Given the description of an element on the screen output the (x, y) to click on. 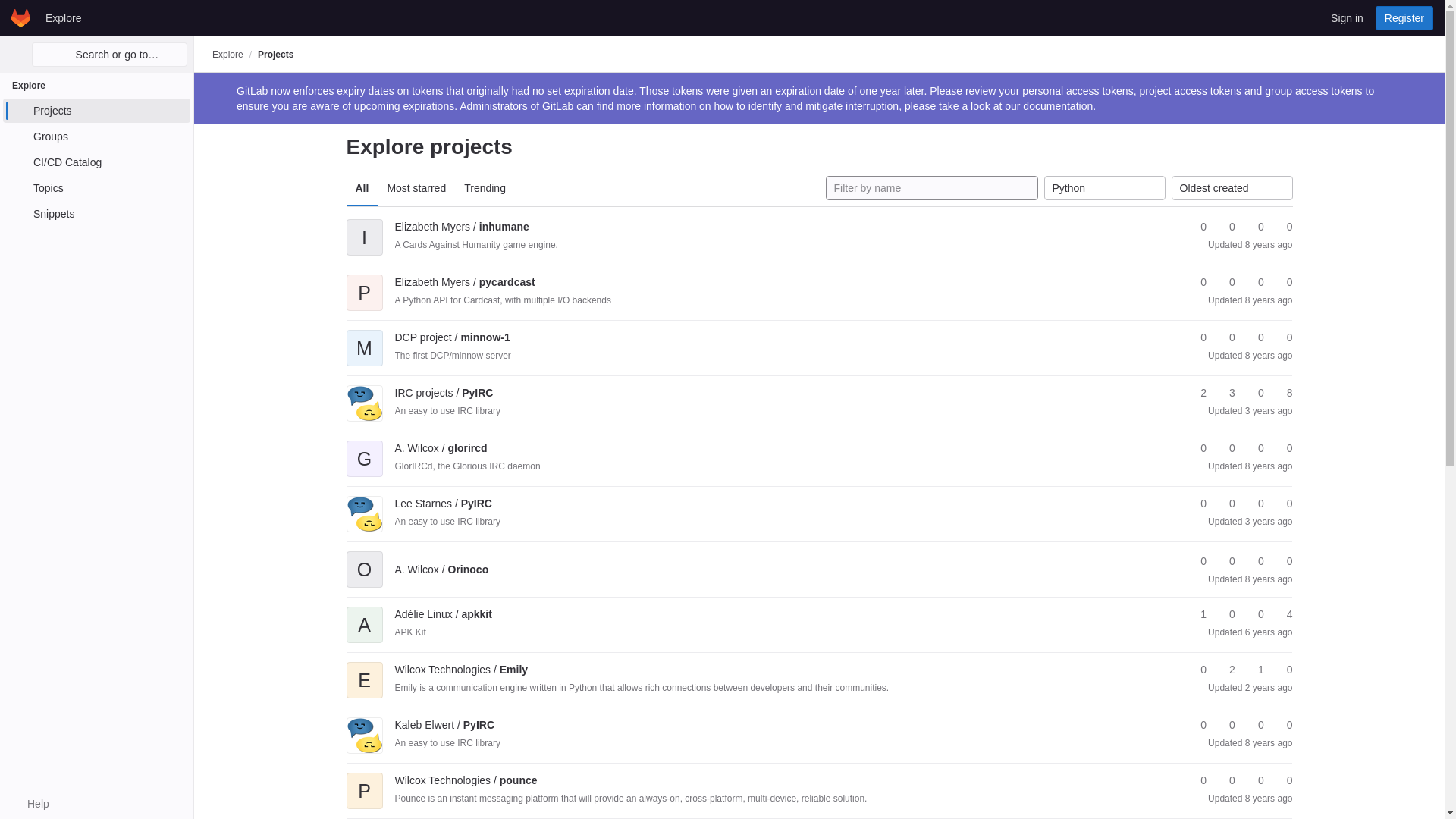
Snippets (96, 213)
Issues (1282, 282)
Topics (96, 187)
Issues (1282, 227)
Stars (1196, 227)
Forks (1224, 282)
Python (1103, 187)
Help (30, 803)
Forks (1224, 227)
Merge requests (1253, 282)
inhumane (461, 226)
Trending (484, 187)
Explore (63, 17)
documentation (1058, 105)
Register (1403, 17)
